Given the description of an element on the screen output the (x, y) to click on. 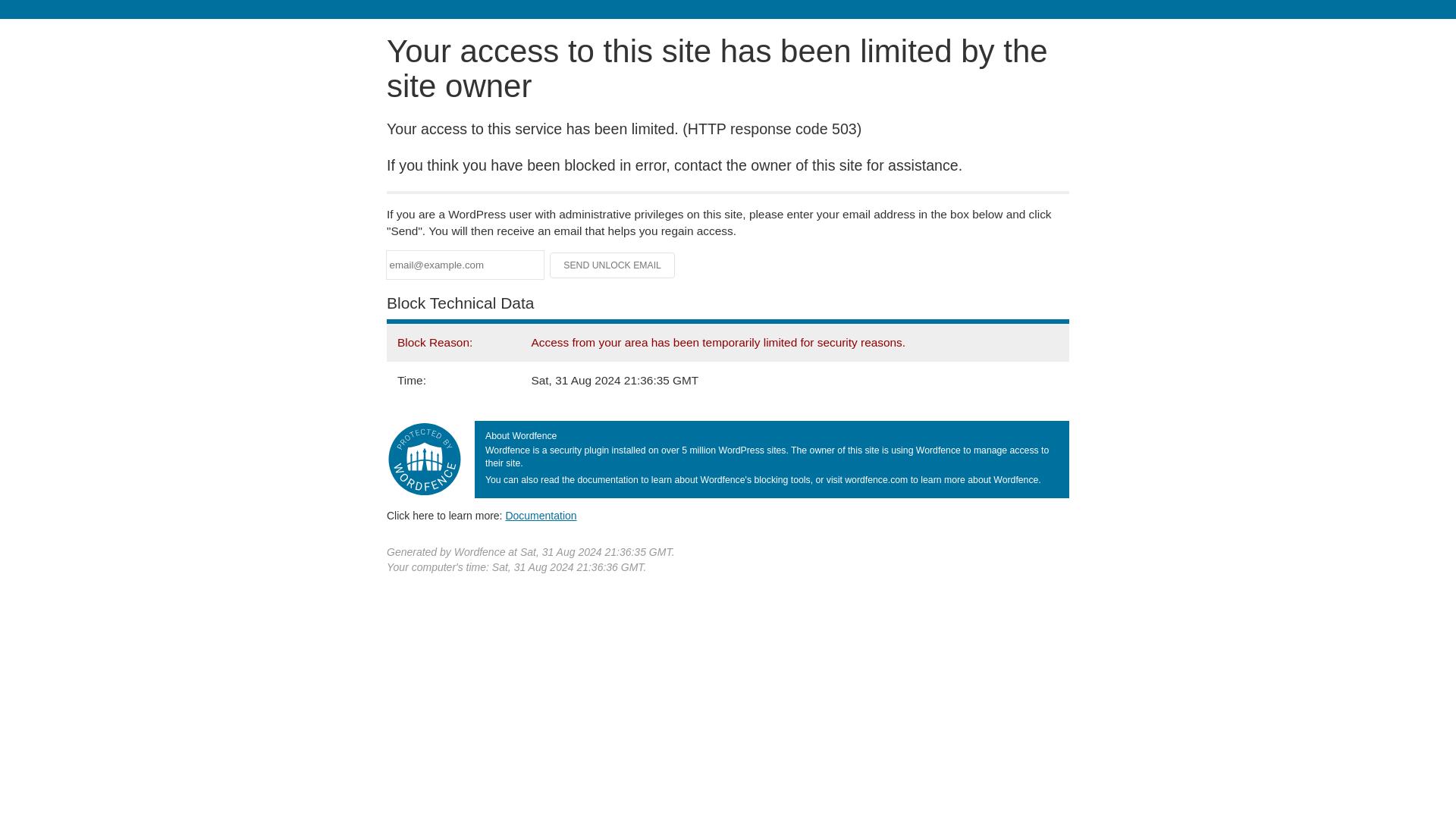
Send Unlock Email (612, 265)
Documentation (540, 515)
Send Unlock Email (612, 265)
